Given the description of an element on the screen output the (x, y) to click on. 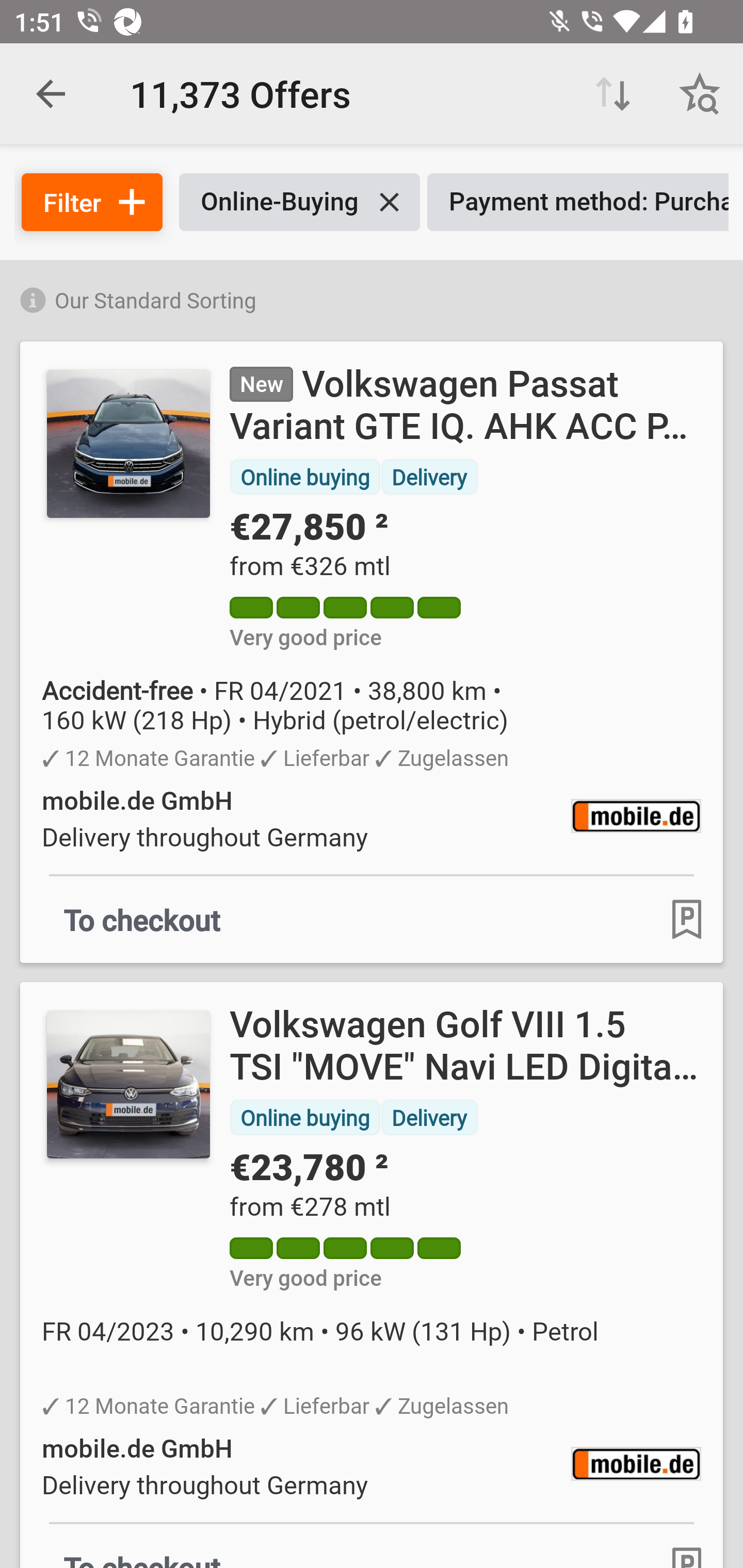
Navigate up (50, 93)
Sort options (612, 93)
Save search (699, 93)
Online-Buying Remove Online-Buying (299, 202)
Payment method: Purchase (577, 202)
Filter (91, 202)
Our Standard Sorting (371, 296)
To checkout (142, 919)
